Given the description of an element on the screen output the (x, y) to click on. 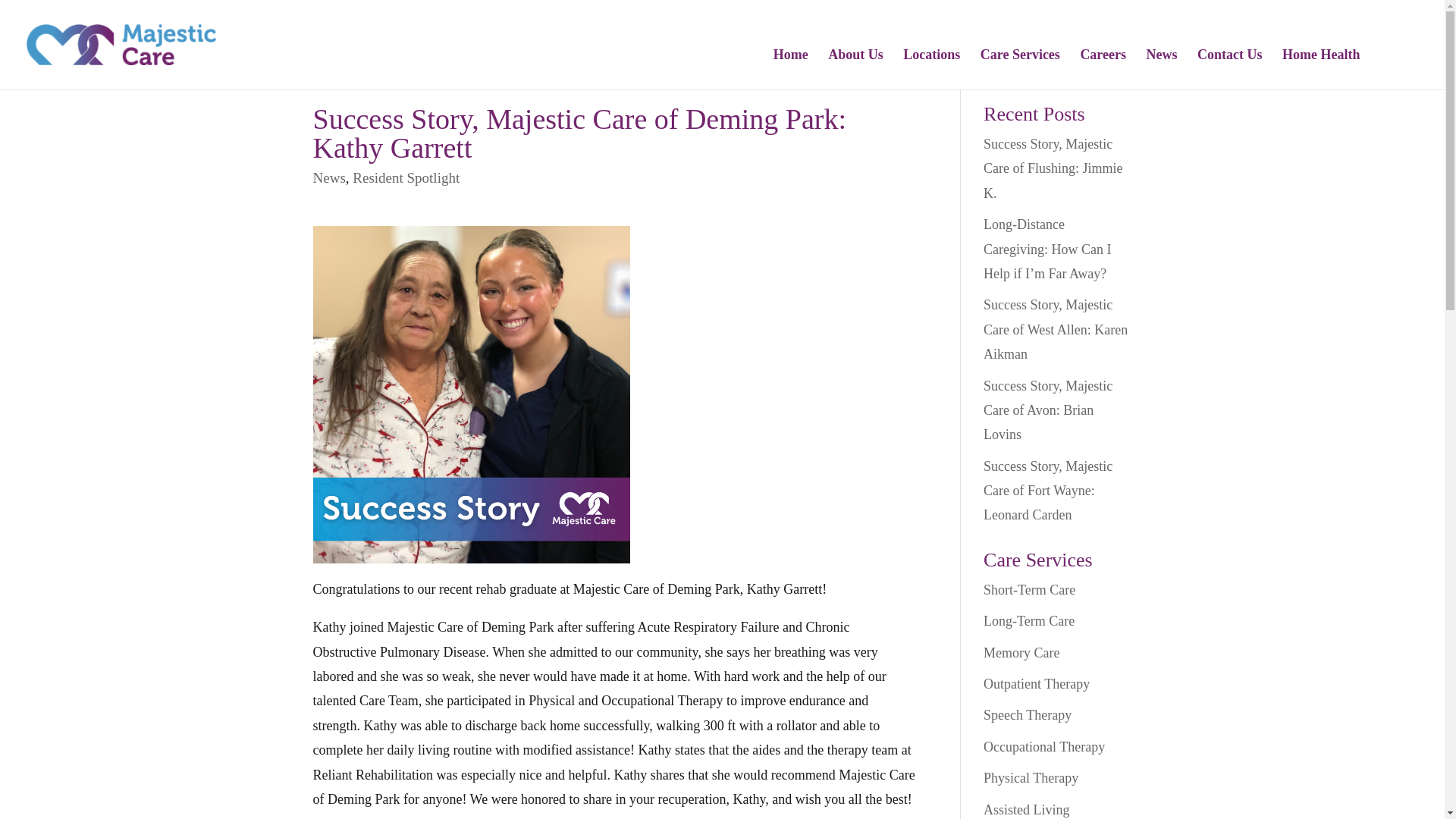
Short-Term Care (1029, 589)
Speech Therapy (1027, 714)
Assisted Living (1027, 809)
Home Health (1320, 69)
Contact Us (1229, 69)
Careers (1102, 69)
Outpatient Therapy (1036, 683)
Resident Spotlight (406, 177)
Success Story, Majestic Care of Fort Wayne: Leonard Carden (1048, 490)
Long-Term Care (1029, 620)
